Given the description of an element on the screen output the (x, y) to click on. 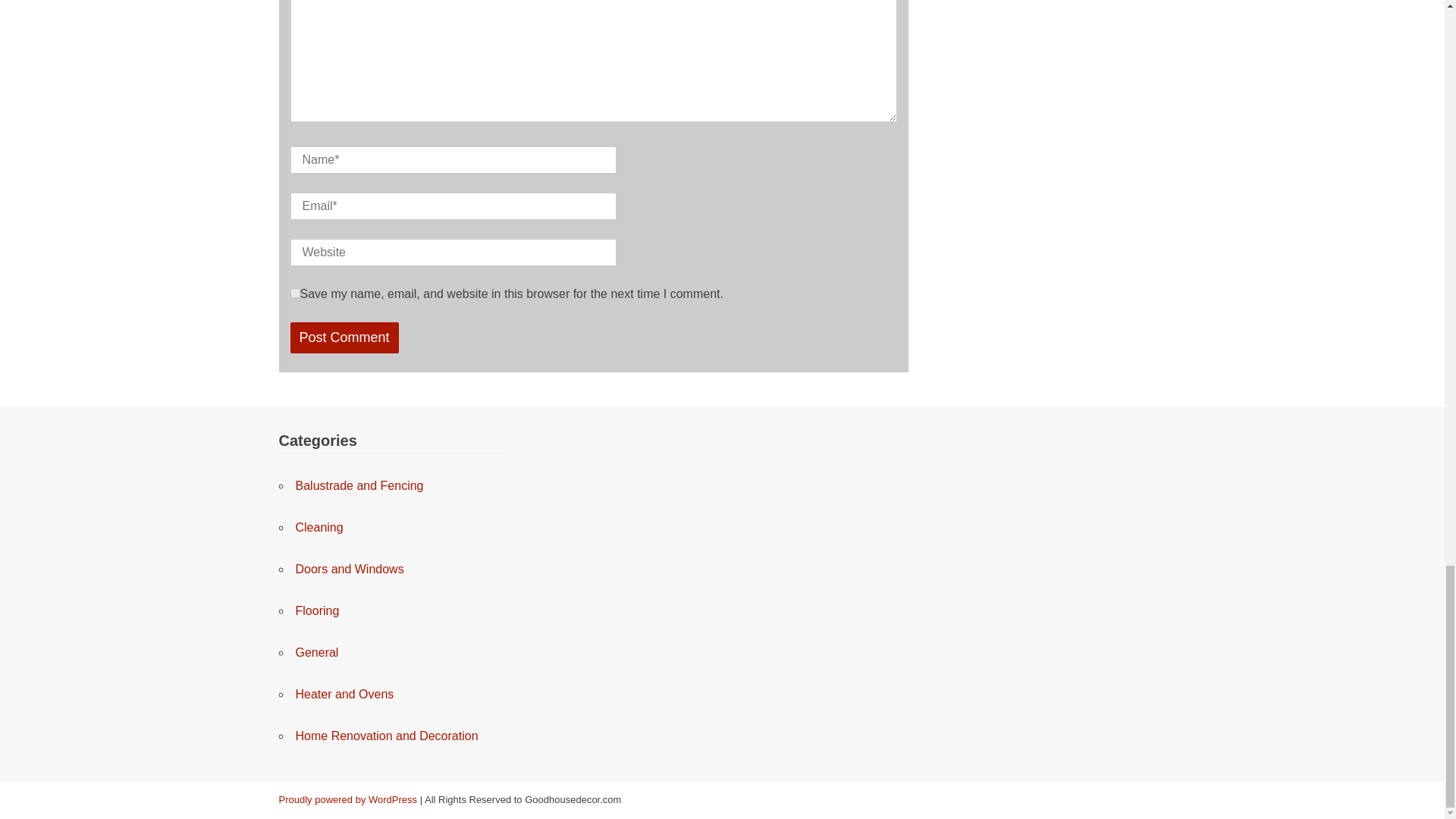
Post Comment (343, 337)
Post Comment (343, 337)
yes (294, 293)
